Given the description of an element on the screen output the (x, y) to click on. 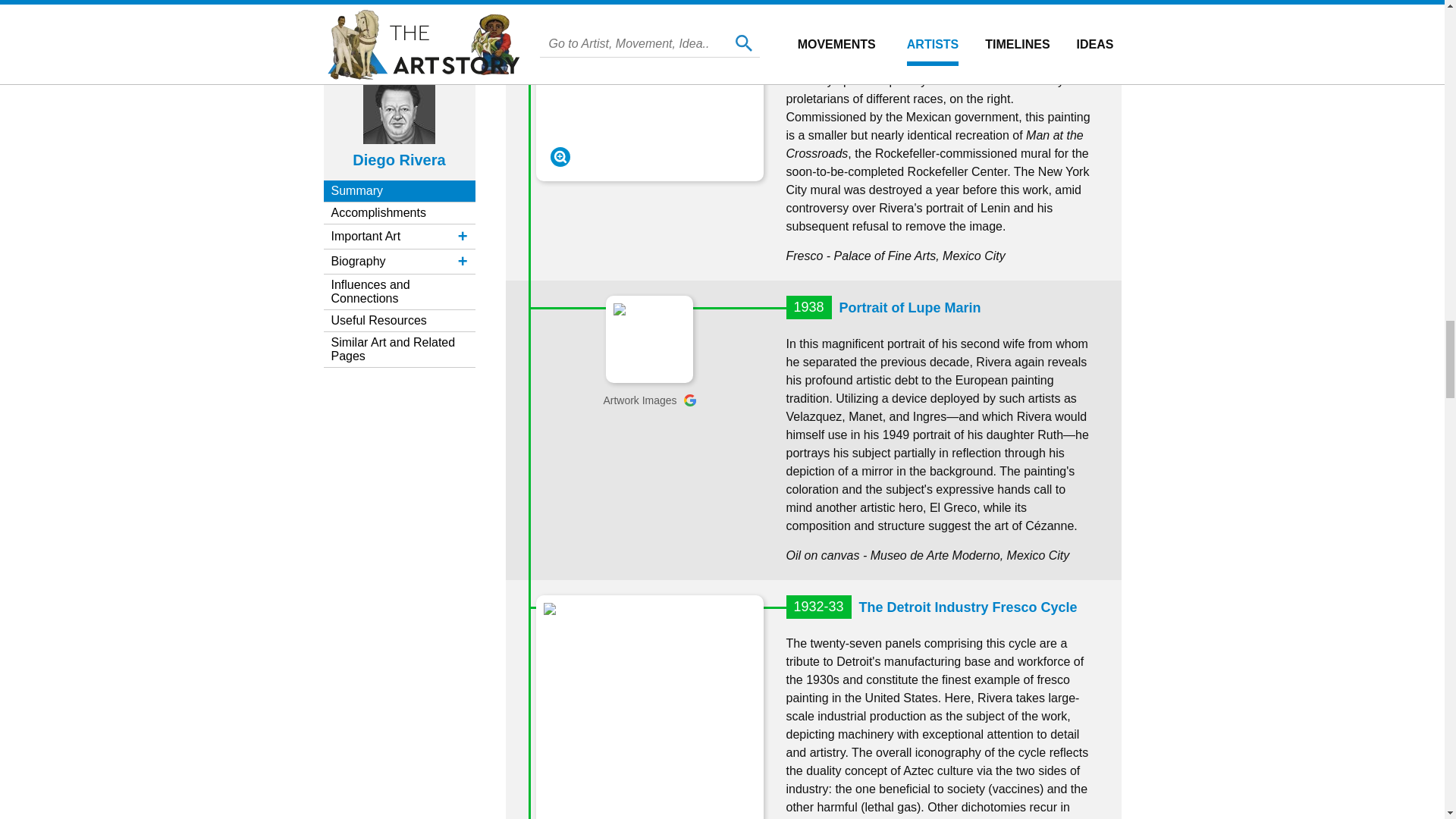
Artwork Images (648, 399)
